Given the description of an element on the screen output the (x, y) to click on. 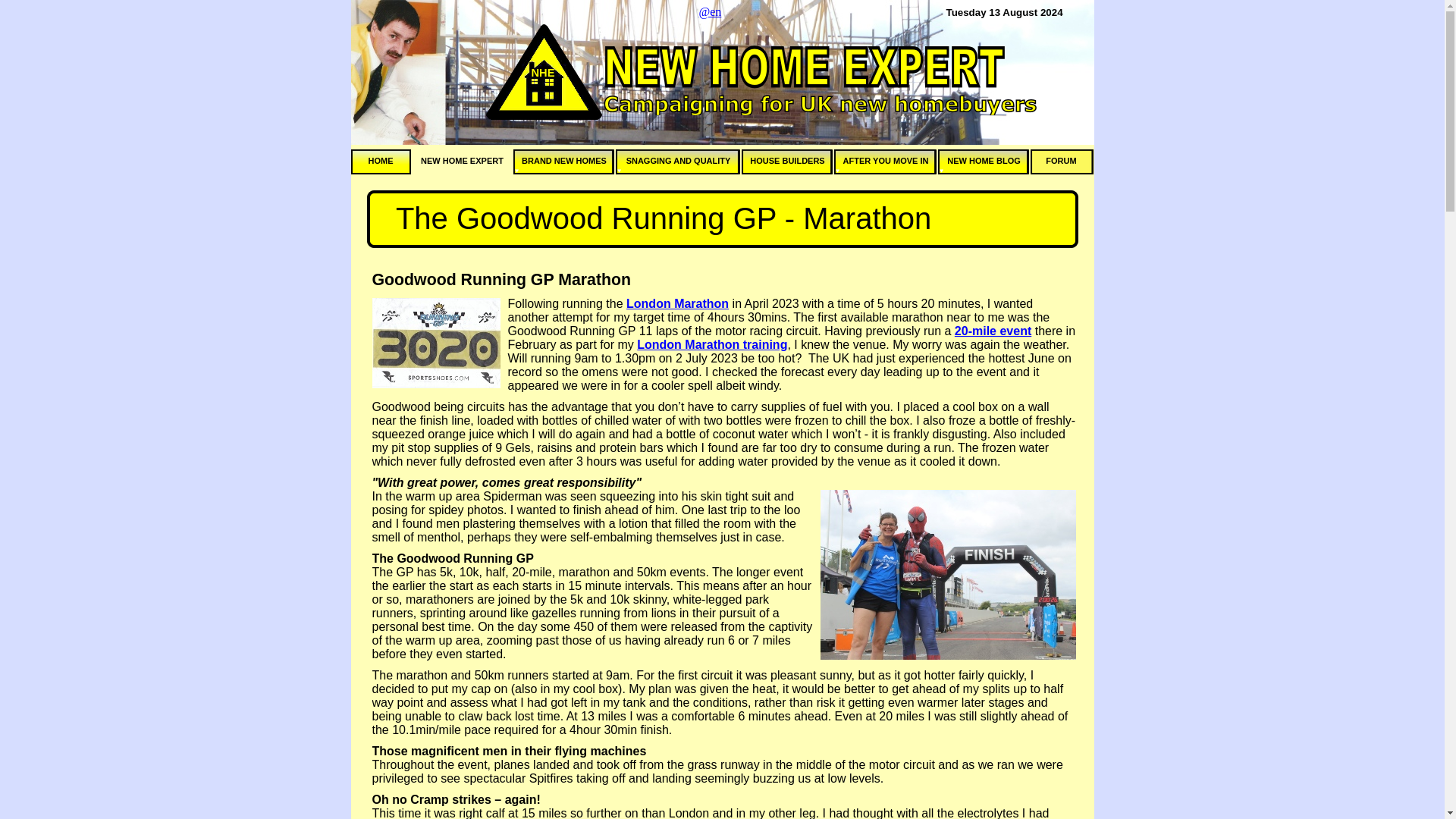
NEW HOME EXPERT (461, 161)
HOME (380, 161)
SNAGGING AND QUALITY (677, 161)
AFTER YOU MOVE IN (885, 161)
BRAND NEW HOMES (562, 161)
London Marathon training (712, 344)
20-mile event (992, 330)
NEW HOME BLOG (982, 161)
FORUM (1061, 161)
Spiderman - Daniel Rusby (948, 574)
